Given the description of an element on the screen output the (x, y) to click on. 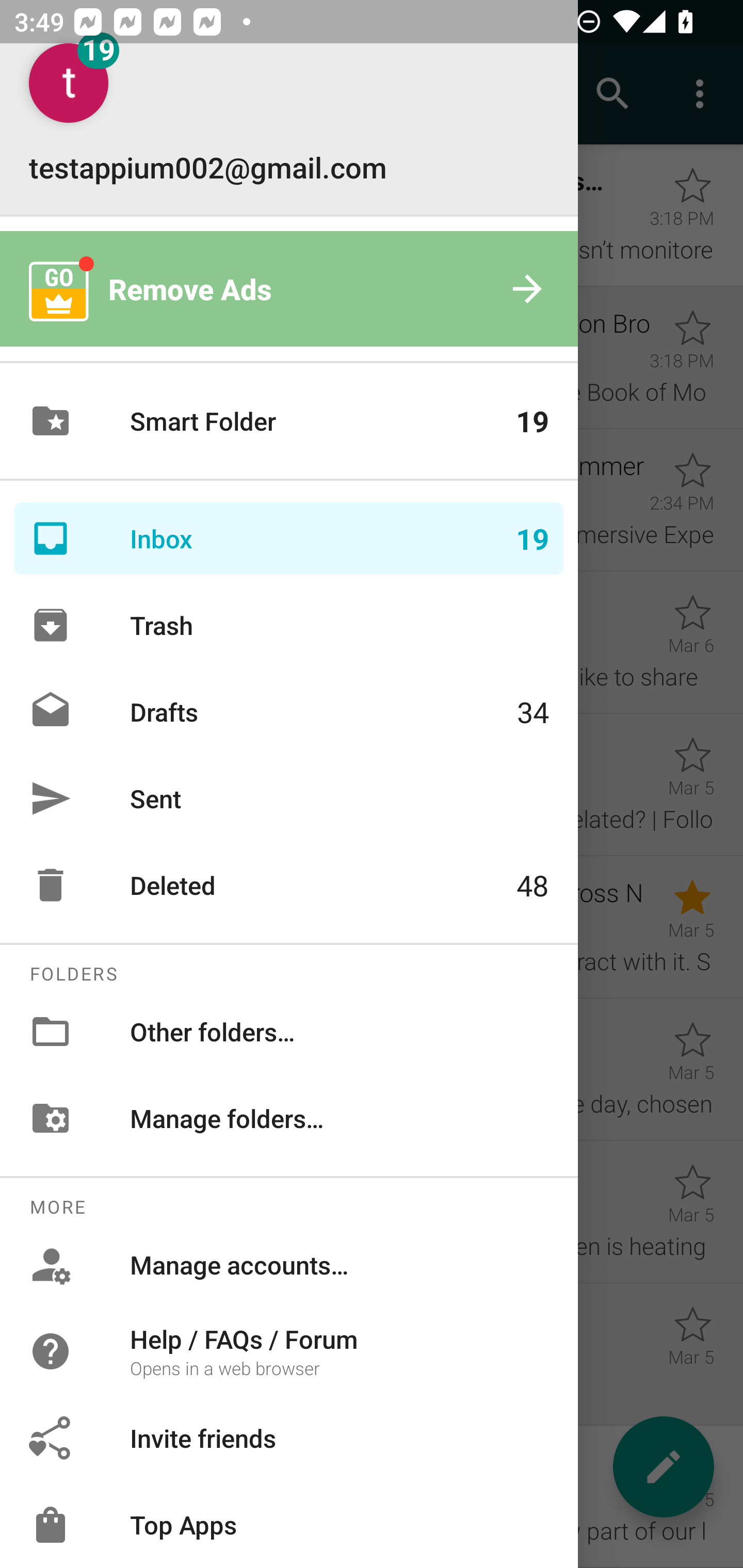
testappium002@gmail.com (289, 114)
Remove Ads (289, 288)
Smart Folder 19 (289, 420)
Inbox 19 (289, 538)
Trash (289, 624)
Drafts 34 (289, 711)
Sent (289, 798)
Deleted 48 (289, 885)
Other folders… (289, 1031)
Manage folders… (289, 1118)
Manage accounts… (289, 1264)
Help / FAQs / Forum Opens in a web browser (289, 1350)
Invite friends (289, 1437)
Top Apps (289, 1524)
